Given the description of an element on the screen output the (x, y) to click on. 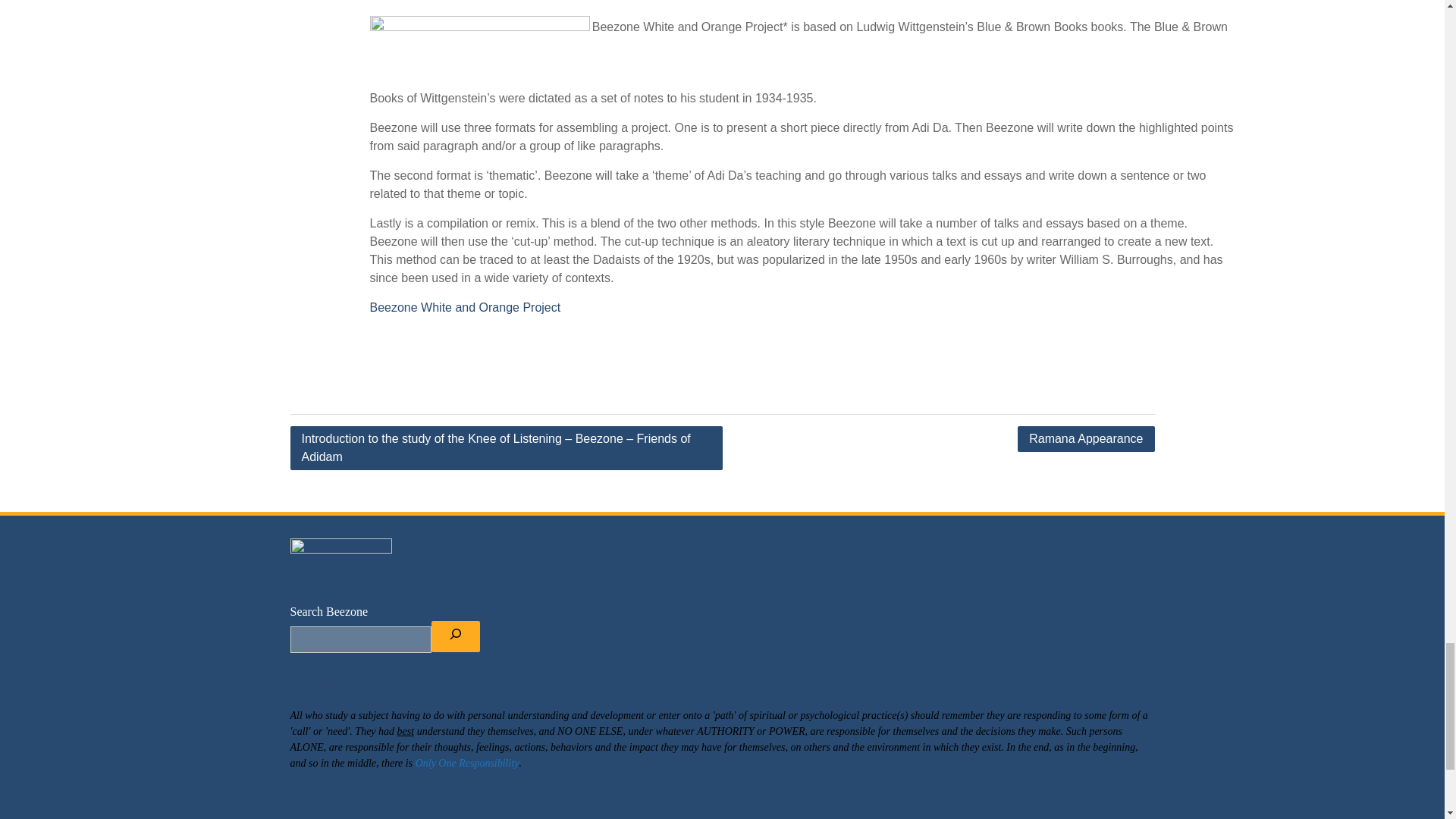
Ramana Appearance (1085, 438)
Beezone White and Orange Project (464, 307)
Only One Responsibility (466, 763)
